Given the description of an element on the screen output the (x, y) to click on. 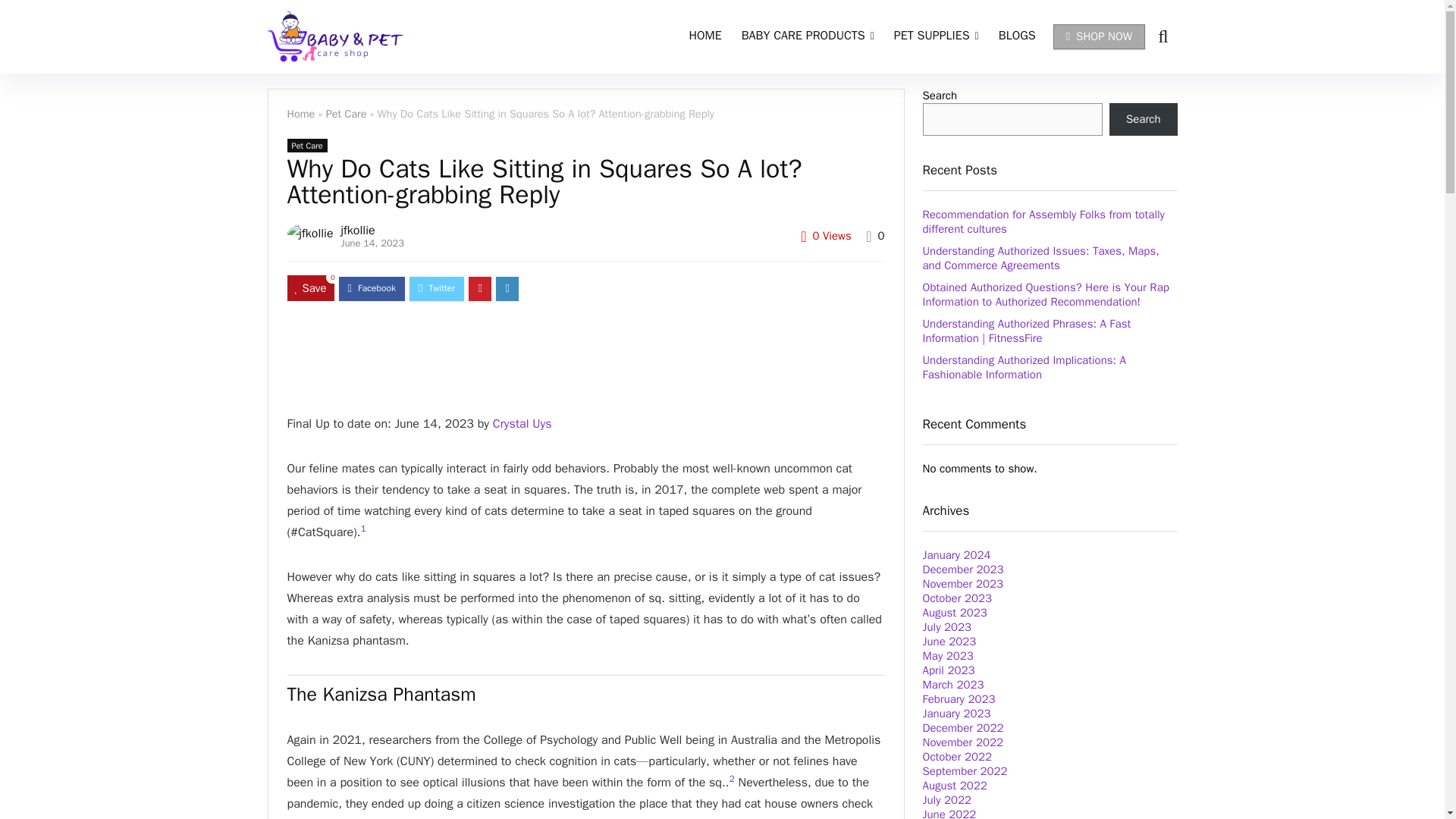
Home (300, 113)
Pet Care (346, 113)
BABY CARE PRODUCTS (807, 36)
Pet Care (306, 145)
BLOGS (1016, 36)
View all posts in Pet Care (306, 145)
Crystal Uys (522, 423)
HOME (705, 36)
SHOP NOW (1098, 36)
PET SUPPLIES (935, 36)
jfkollie (357, 230)
